Given the description of an element on the screen output the (x, y) to click on. 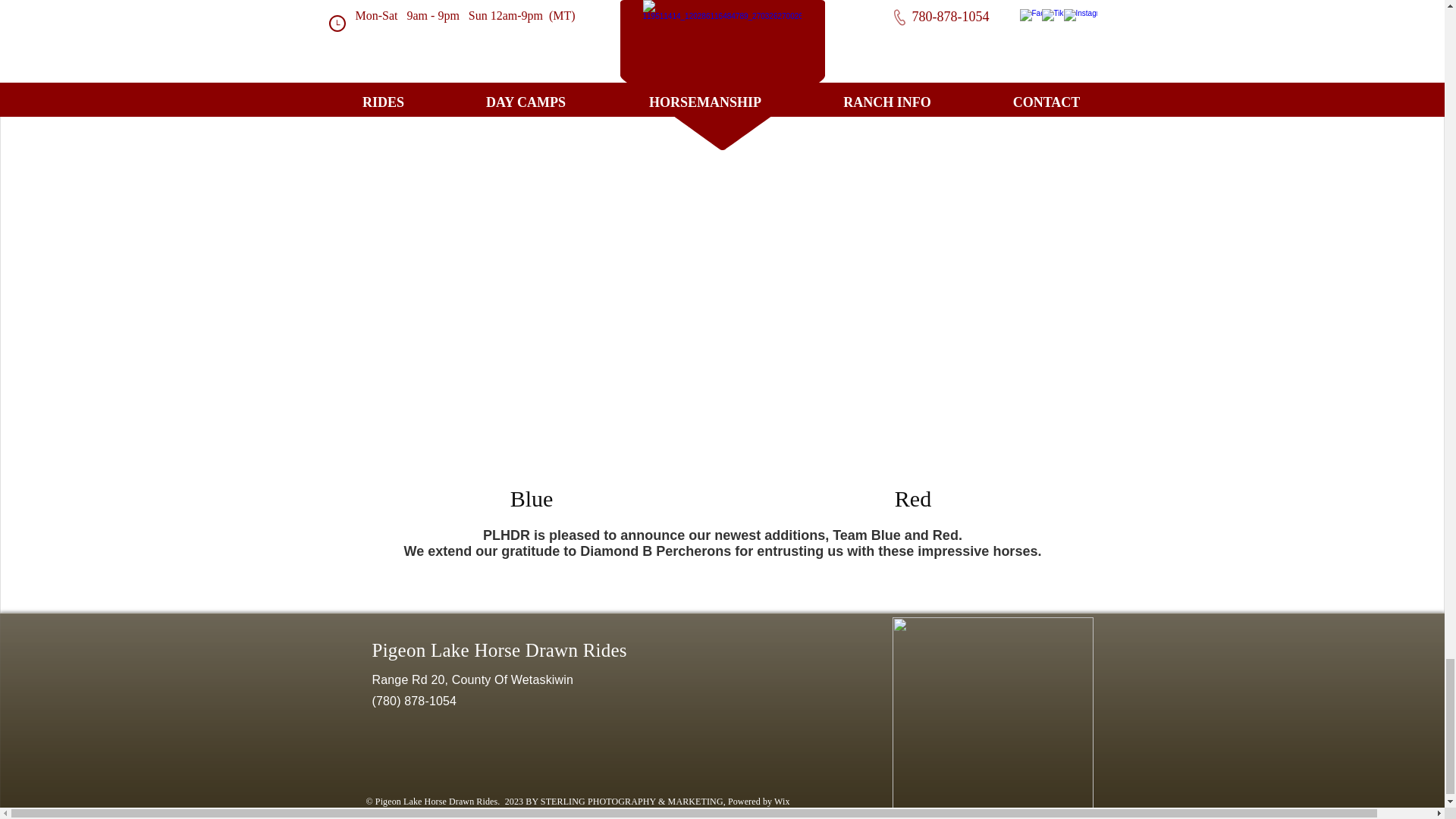
guy2.jpg (529, 283)
guy2.jpg (913, 277)
